Given the description of an element on the screen output the (x, y) to click on. 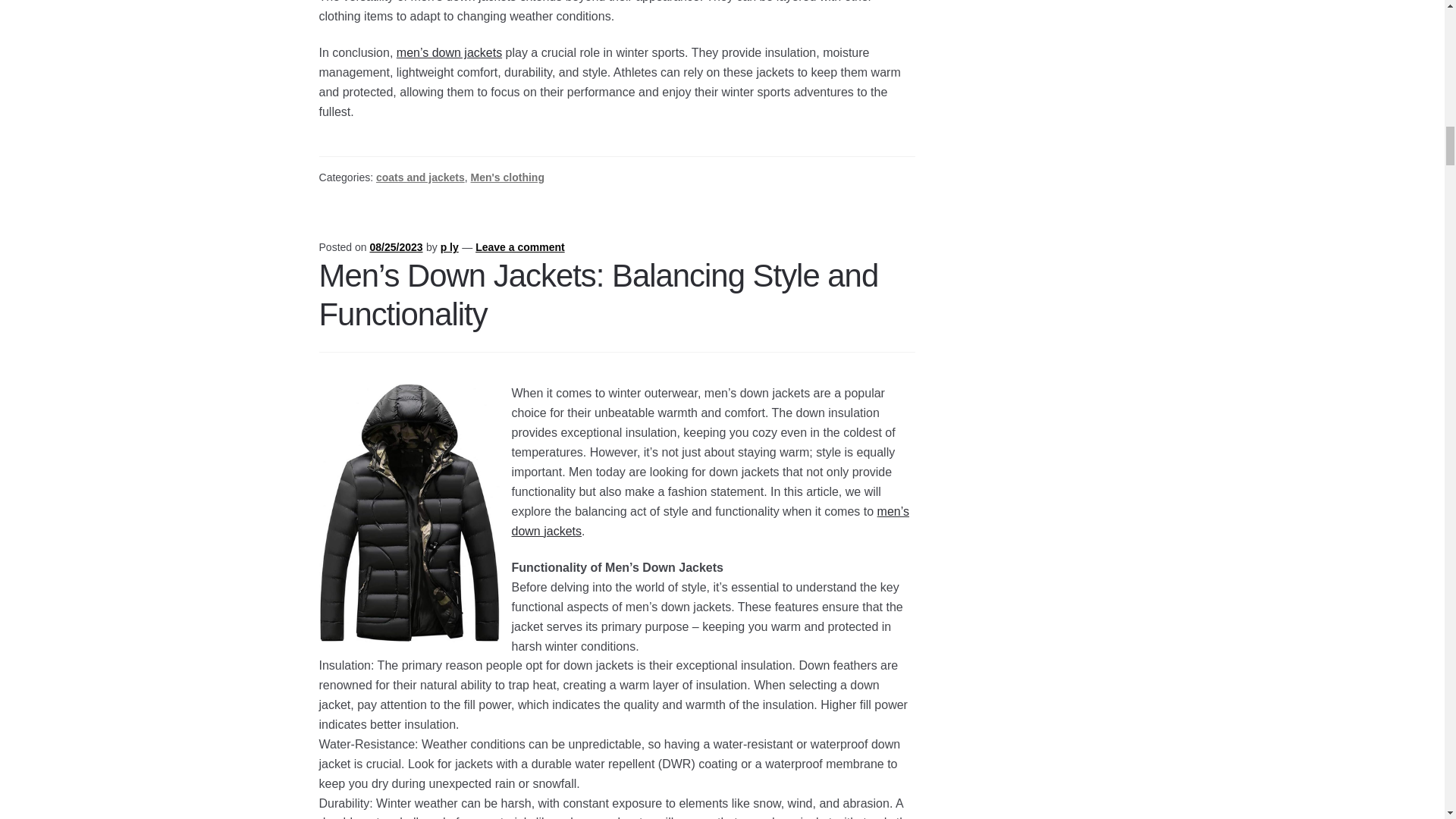
Leave a comment (520, 246)
p ly (449, 246)
coats and jackets (419, 177)
Men's clothing (507, 177)
